Given the description of an element on the screen output the (x, y) to click on. 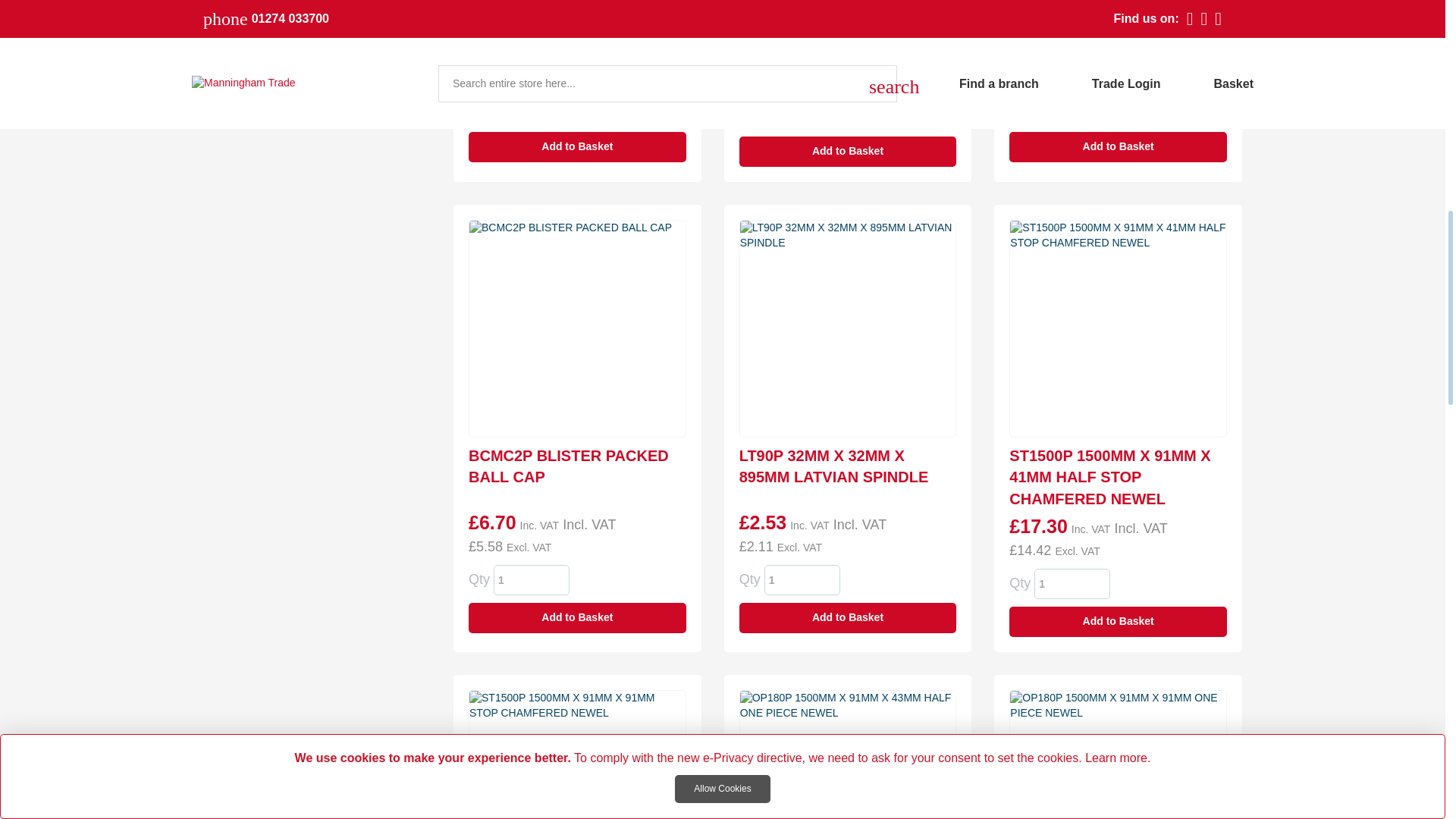
1 (1071, 583)
Add to Basket (1118, 146)
1 (1071, 109)
1 (802, 580)
Qty (802, 113)
Add to Basket (576, 146)
Qty (1071, 109)
1 (802, 113)
Qty (531, 109)
1 (531, 109)
Add to Basket (847, 151)
1 (531, 580)
Qty (531, 580)
